Given the description of an element on the screen output the (x, y) to click on. 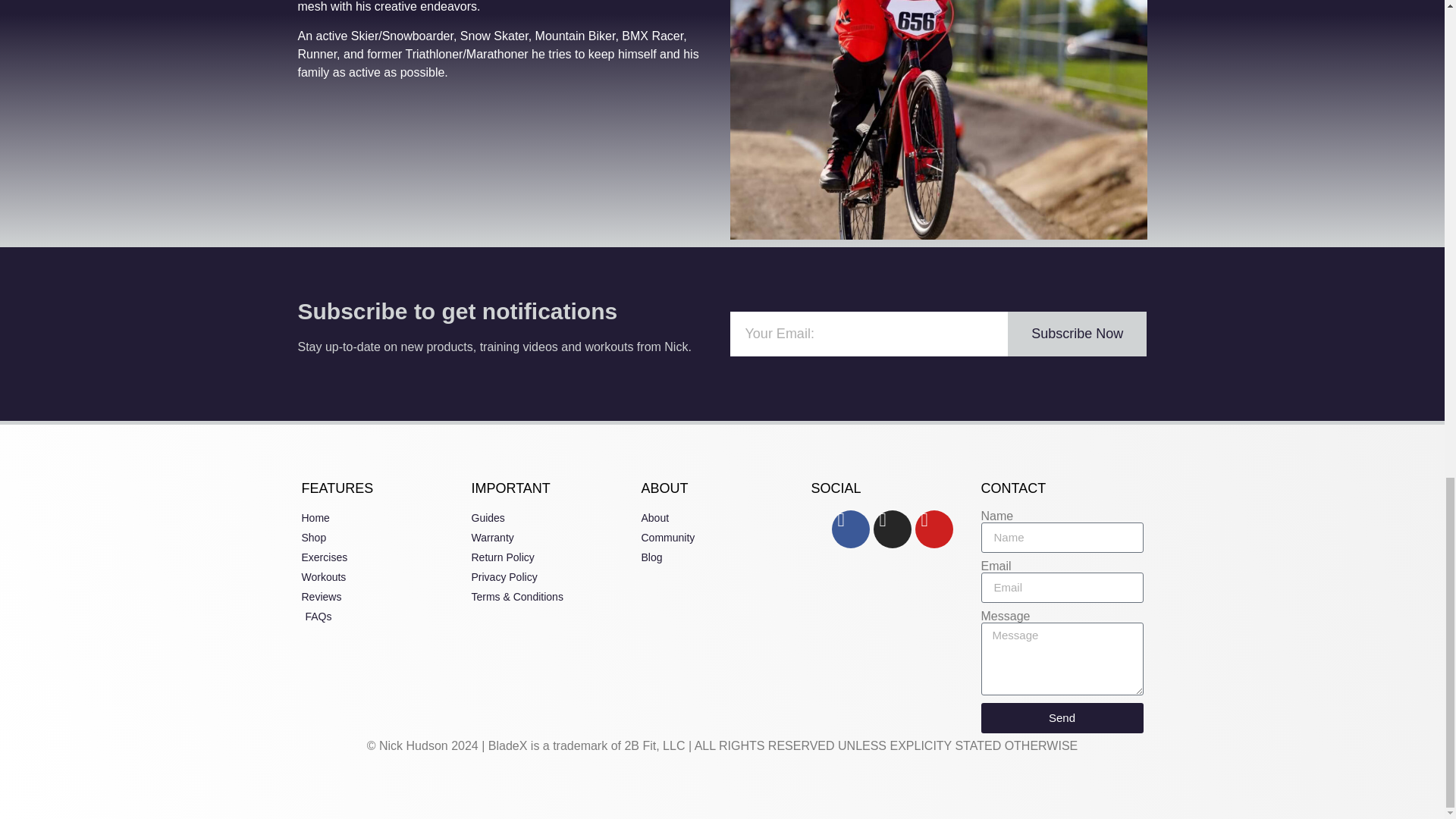
FAQs (382, 616)
Privacy Policy (552, 577)
Send (1061, 717)
Shop (382, 537)
Reviews (382, 596)
Exercises (382, 557)
Workouts (382, 577)
Home (382, 518)
Subscribe Now (1077, 334)
Return Policy (552, 557)
